Given the description of an element on the screen output the (x, y) to click on. 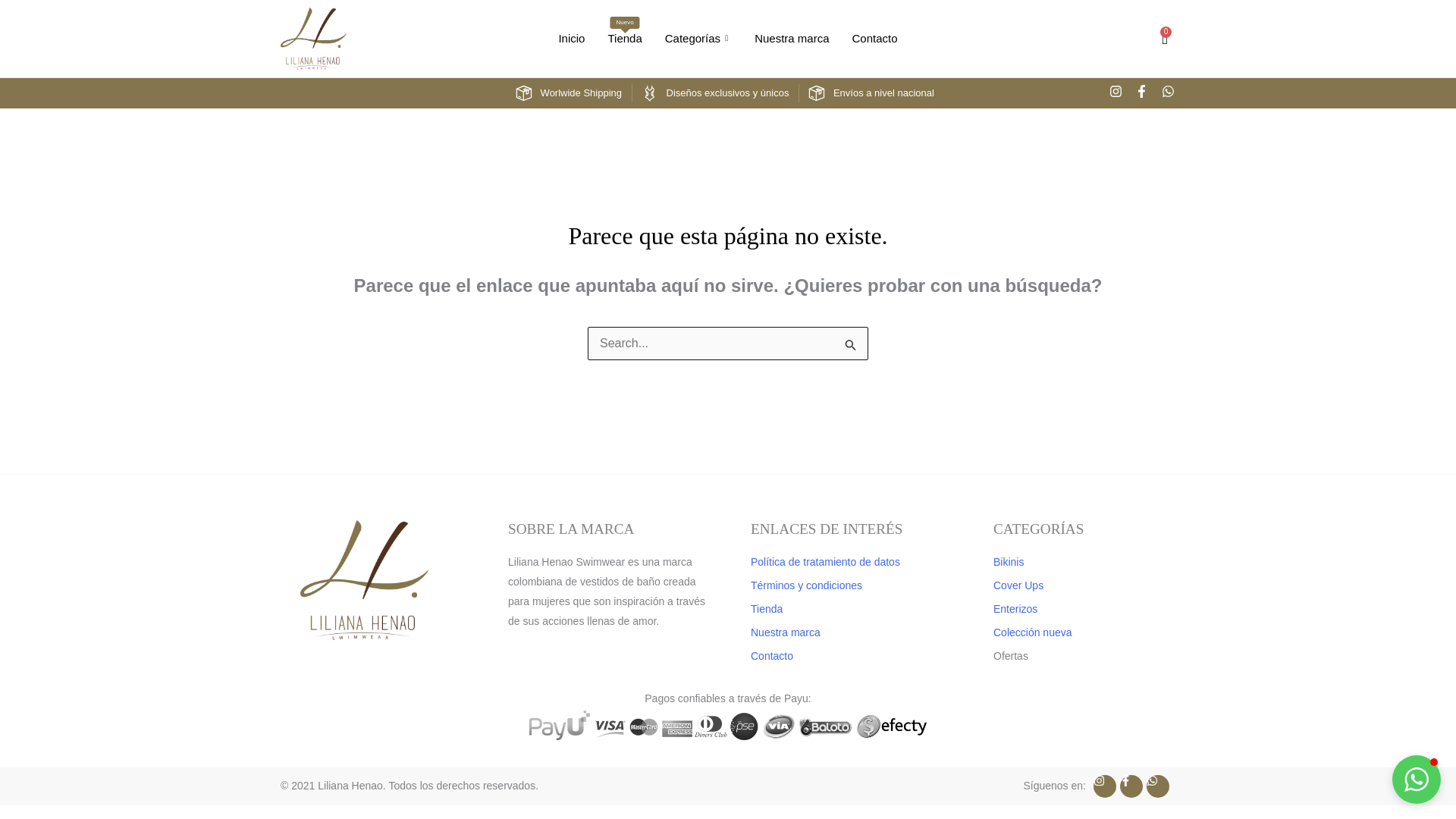
Contacto (874, 38)
Facebook-f (1142, 92)
Buscar (850, 347)
0 (1164, 38)
Inicio (571, 38)
Buscar (623, 38)
Instagram (850, 347)
Nuestra marca (1116, 92)
Whatsapp (791, 38)
Buscar (1168, 92)
